Given the description of an element on the screen output the (x, y) to click on. 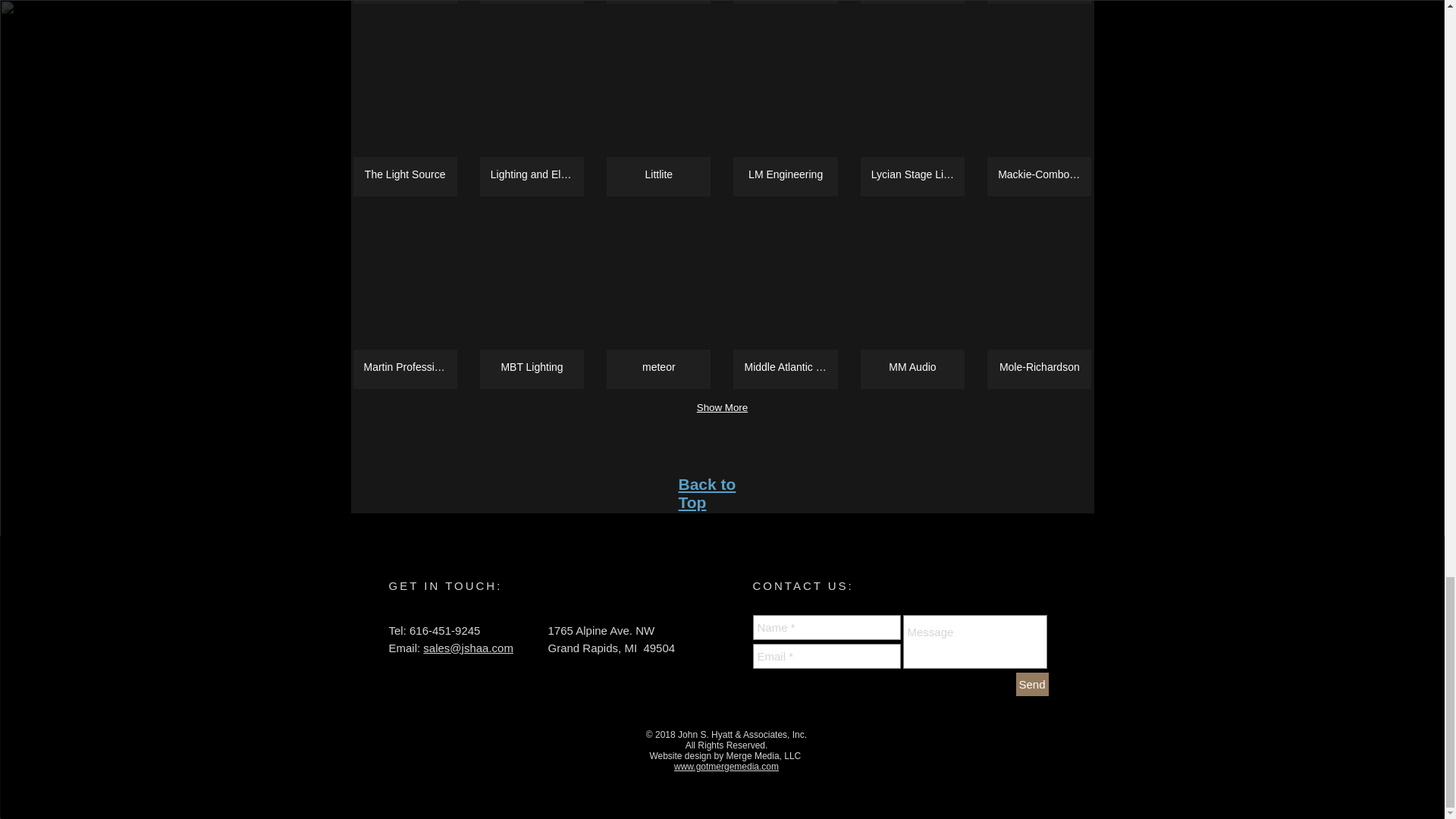
Back to Top (706, 493)
Send (1032, 684)
Show More (721, 407)
www.gotmergemedia.com (726, 766)
